Given the description of an element on the screen output the (x, y) to click on. 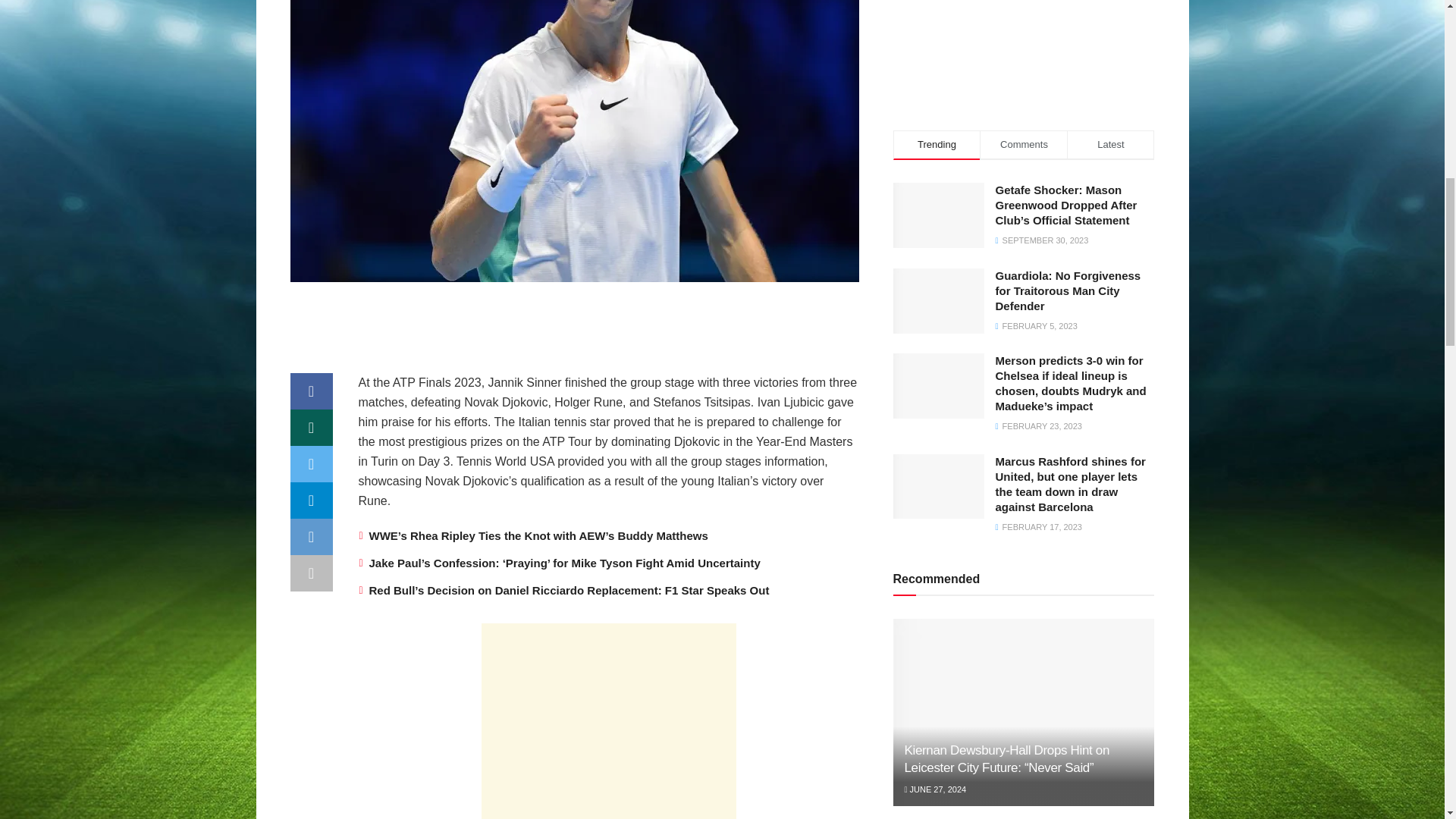
Advertisement (1023, 32)
